Given the description of an element on the screen output the (x, y) to click on. 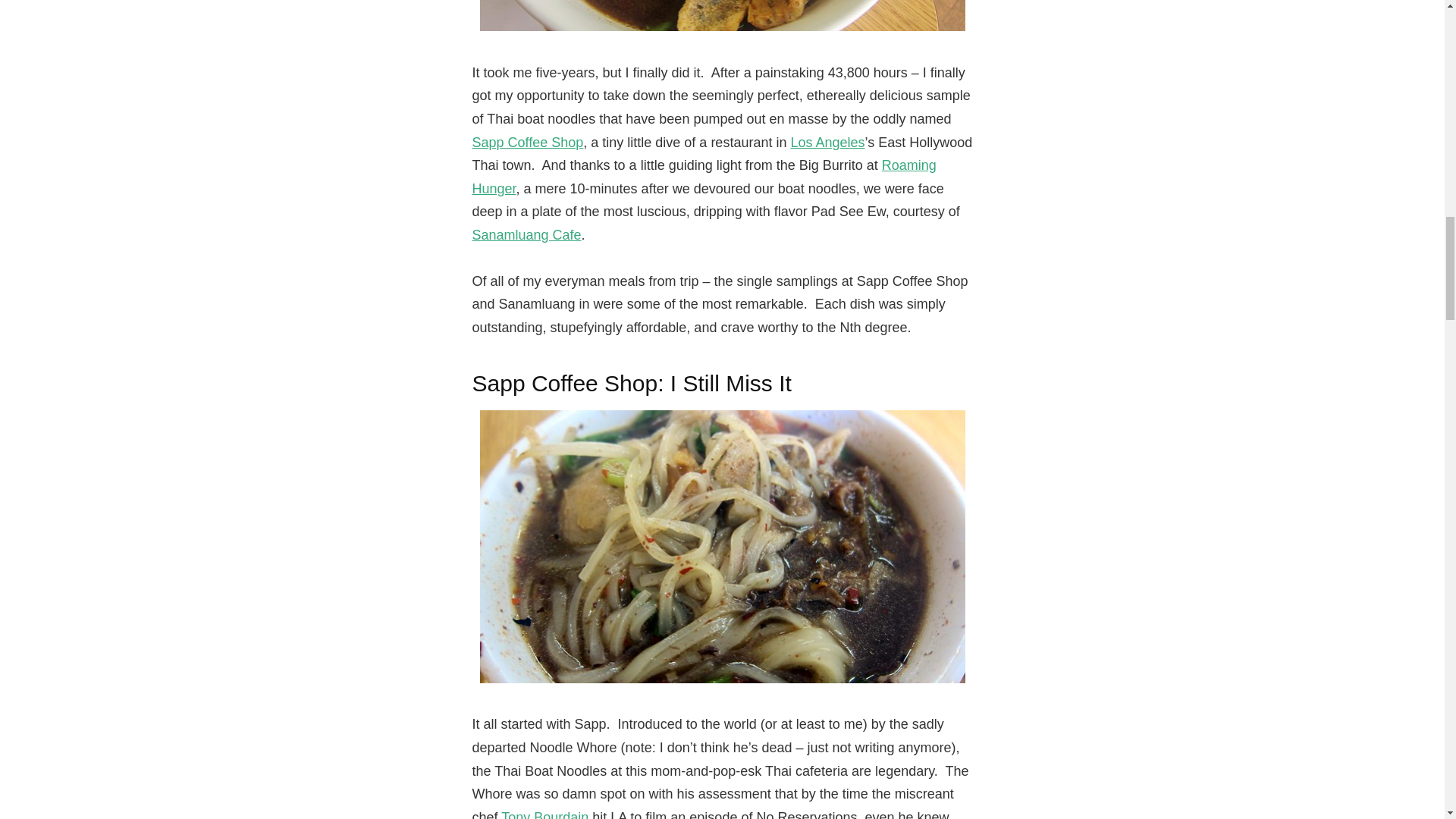
Tony Bourdain (544, 814)
Sapp Coffee Shop (527, 142)
Los Angeles (827, 142)
Roaming Hunger (703, 177)
Sanamluang Cafe (525, 234)
